Given the description of an element on the screen output the (x, y) to click on. 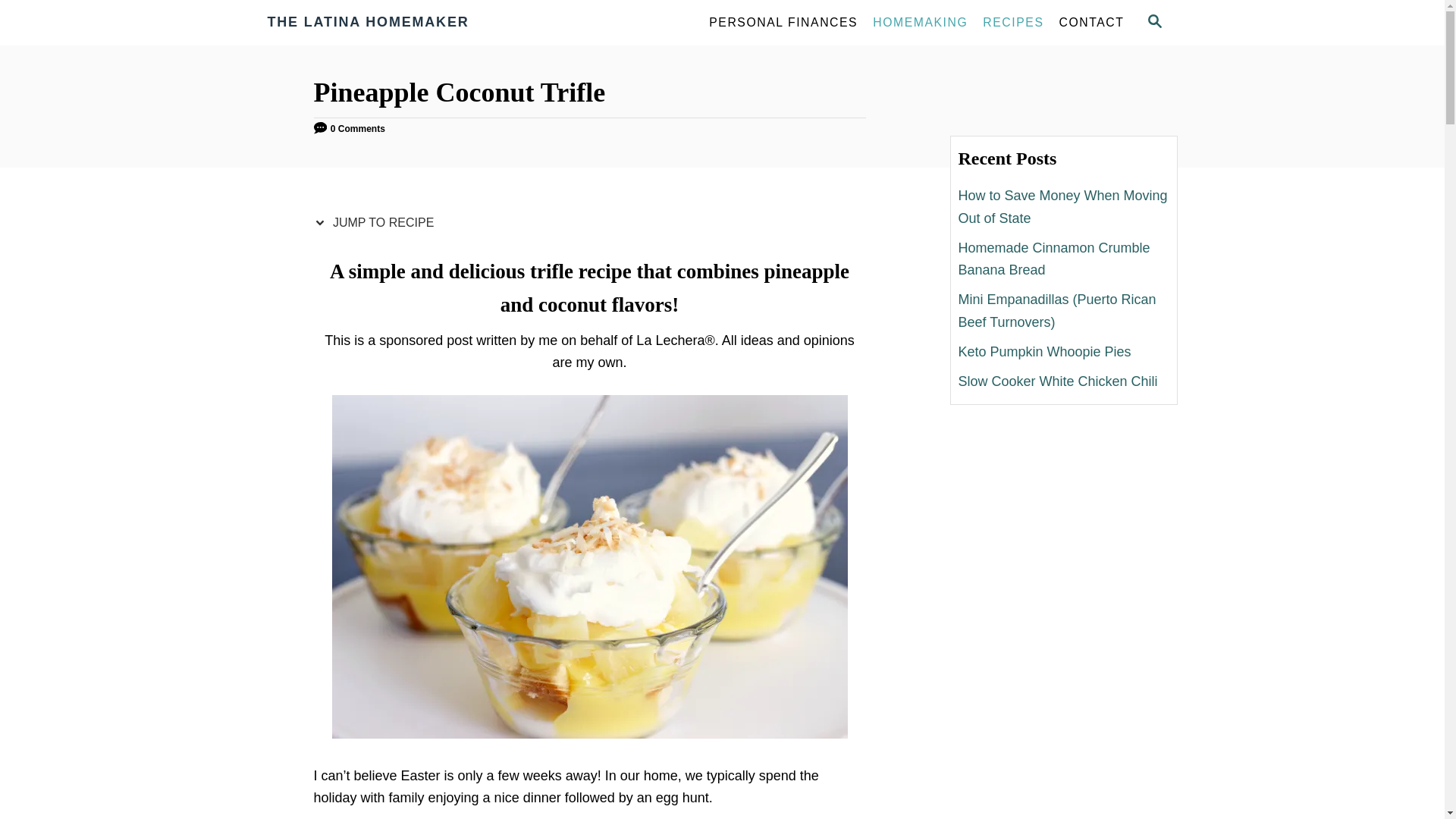
Homemade Cinnamon Crumble Banana Bread (1063, 259)
THE LATINA HOMEMAKER (403, 22)
JUMP TO RECIPE (378, 222)
HOMEMAKING (919, 22)
The Latina Homemaker (403, 22)
RECIPES (1013, 22)
SEARCH (1153, 22)
How to Save Money When Moving Out of State (1063, 206)
CONTACT (1091, 22)
PERSONAL FINANCES (782, 22)
